Given the description of an element on the screen output the (x, y) to click on. 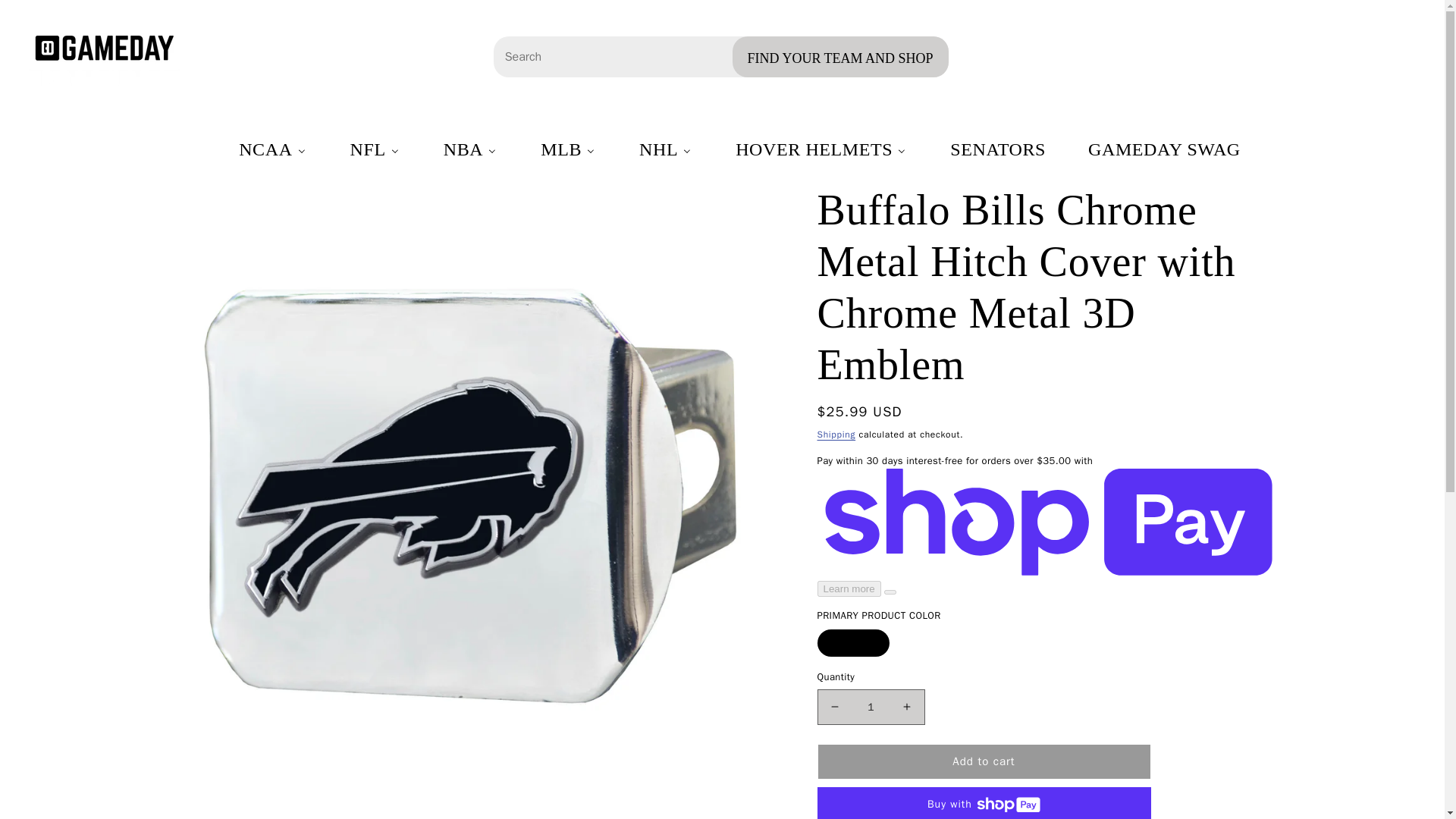
Skip to content (45, 17)
1 (870, 706)
Cart (1402, 56)
FIND YOUR TEAM AND SHOP (840, 56)
